Given the description of an element on the screen output the (x, y) to click on. 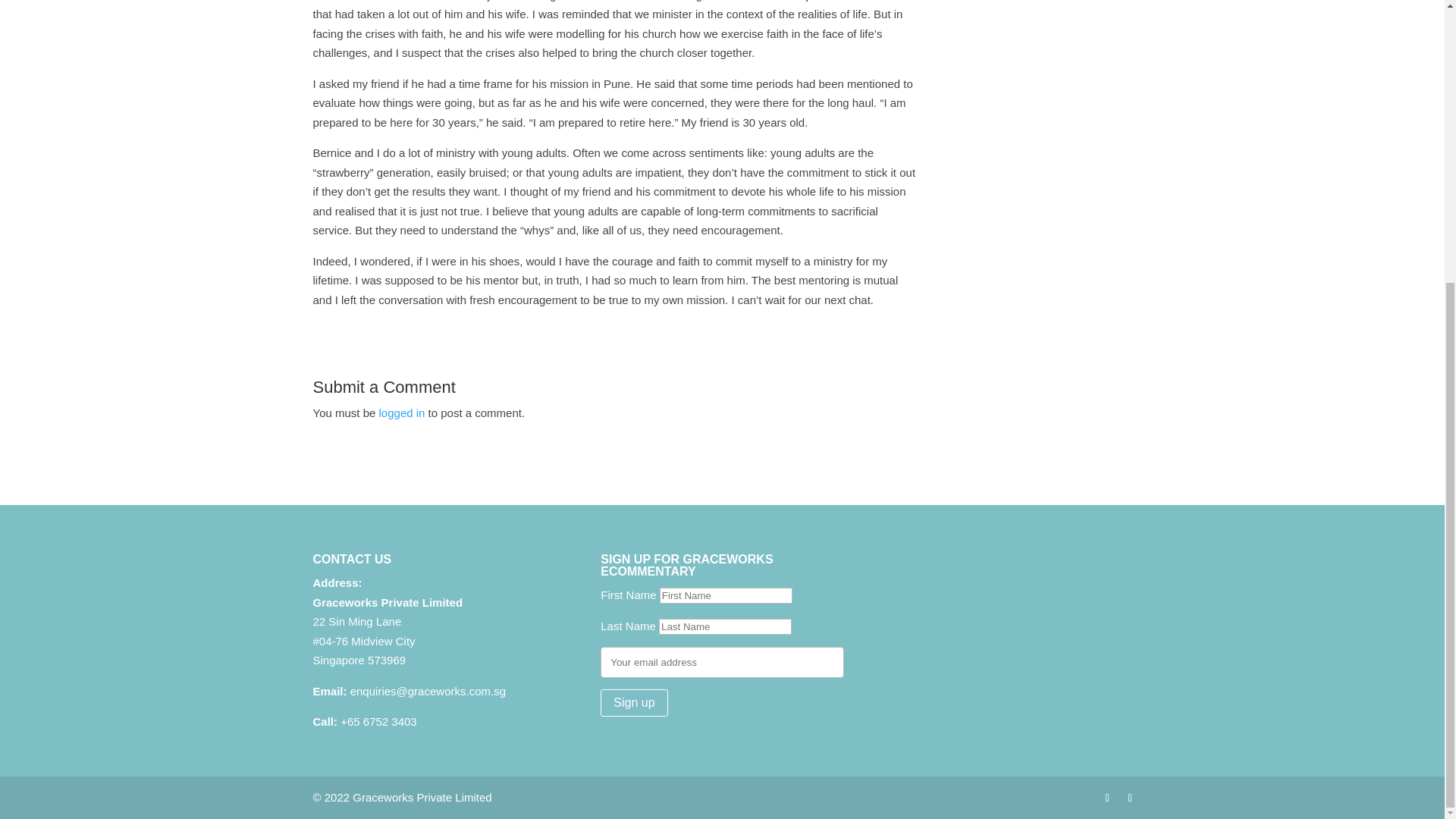
Sign up (632, 702)
Sign up (632, 702)
logged in (401, 412)
